Given the description of an element on the screen output the (x, y) to click on. 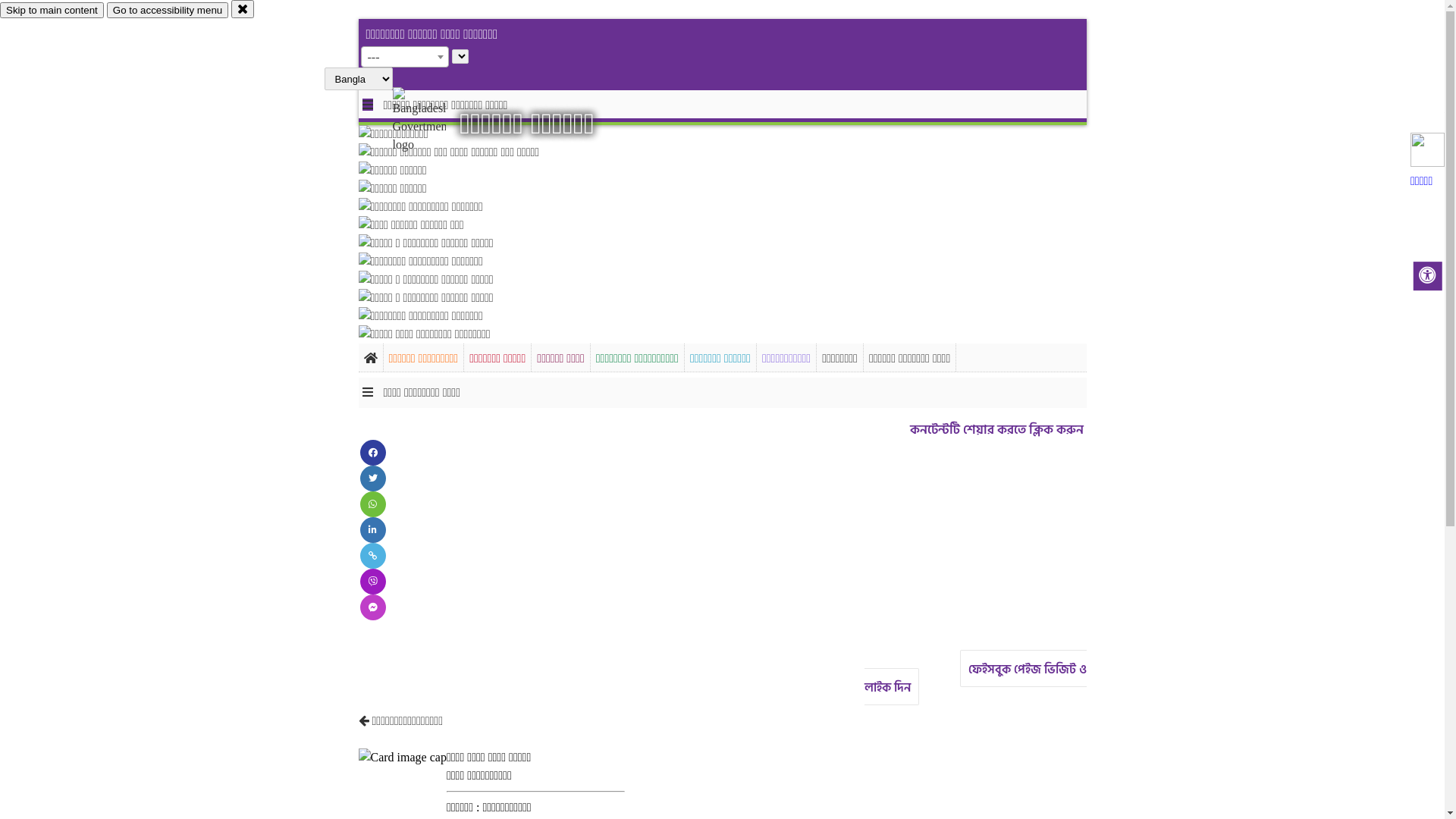
Go to accessibility menu Element type: text (167, 10)

                
             Element type: hover (431, 120)
Skip to main content Element type: text (51, 10)
close Element type: hover (242, 9)
